Given the description of an element on the screen output the (x, y) to click on. 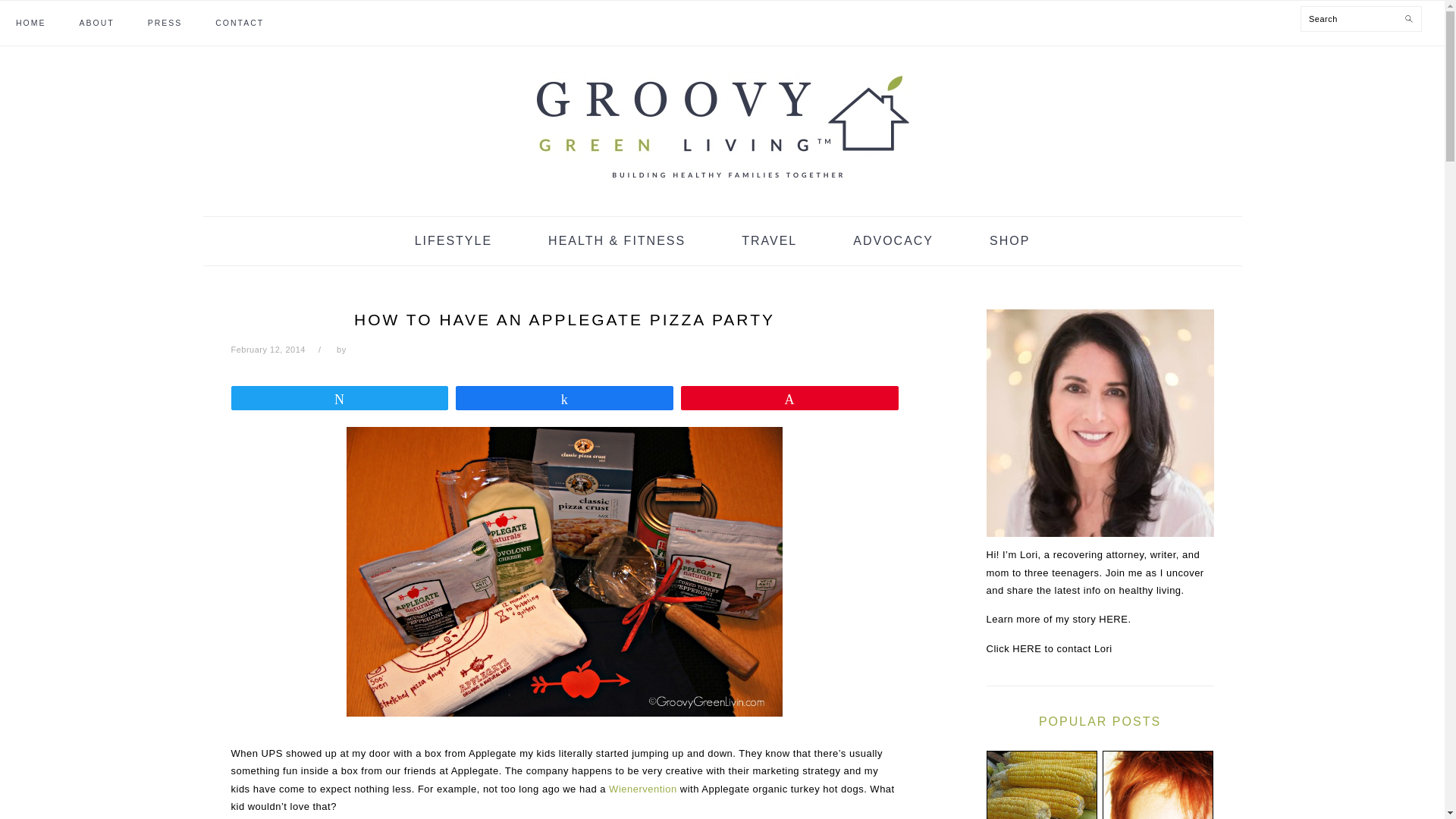
More on GMOs (1040, 785)
HOME (31, 22)
CONTACT (239, 22)
ADVOCACY (892, 240)
Groovy Green Livin Applegate (564, 571)
ABOUT (97, 22)
TRAVEL (769, 240)
SHOP (1009, 240)
LIFESTYLE (453, 240)
PRESS (165, 22)
Got Lice? (1157, 785)
